Given the description of an element on the screen output the (x, y) to click on. 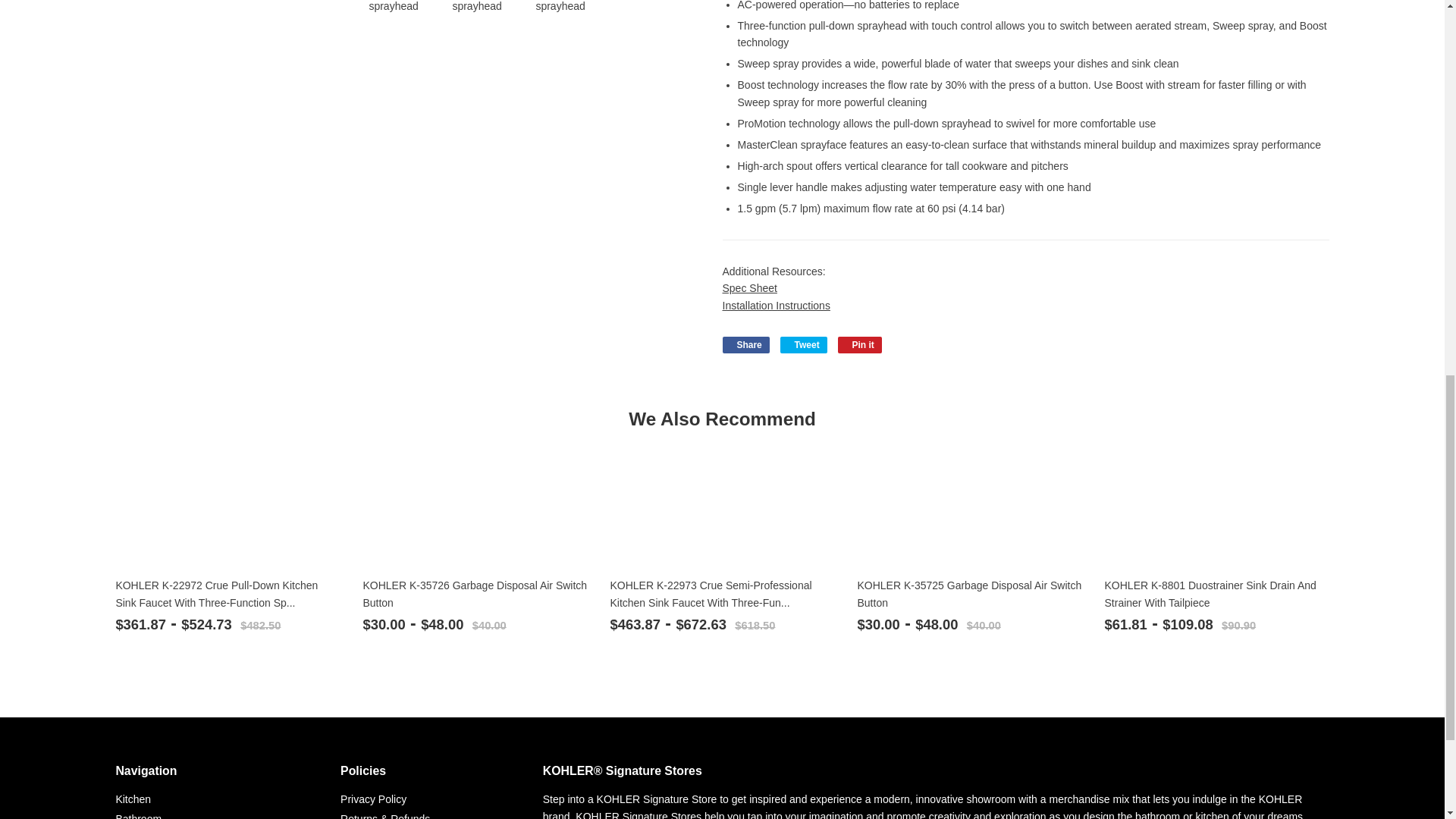
Share on Facebook (745, 344)
Tweet on Twitter (803, 344)
Pin on Pinterest (860, 344)
